Given the description of an element on the screen output the (x, y) to click on. 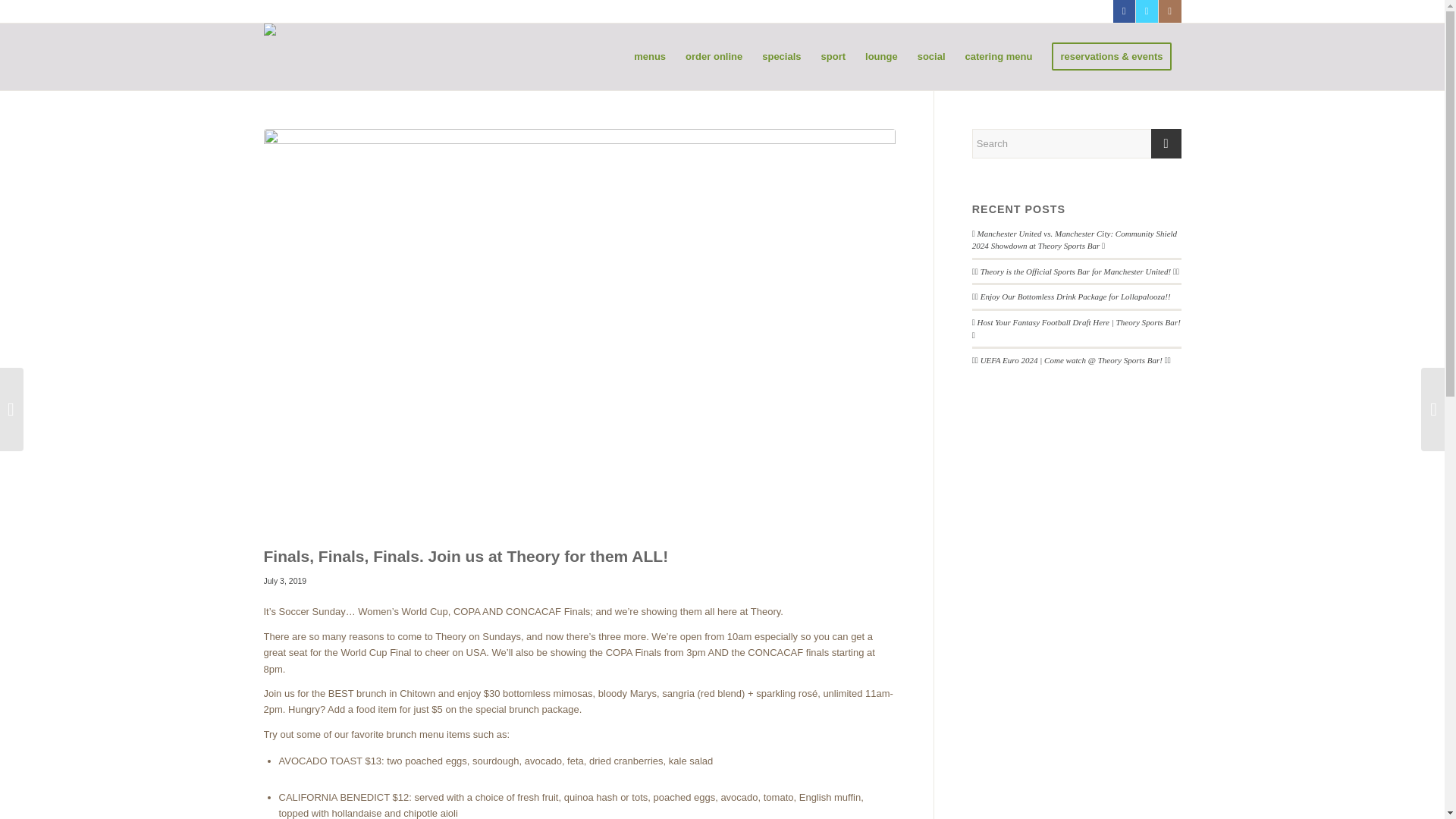
Instagram (1169, 11)
X (1146, 11)
Facebook (1124, 11)
order online (713, 56)
catering menu (998, 56)
